Given the description of an element on the screen output the (x, y) to click on. 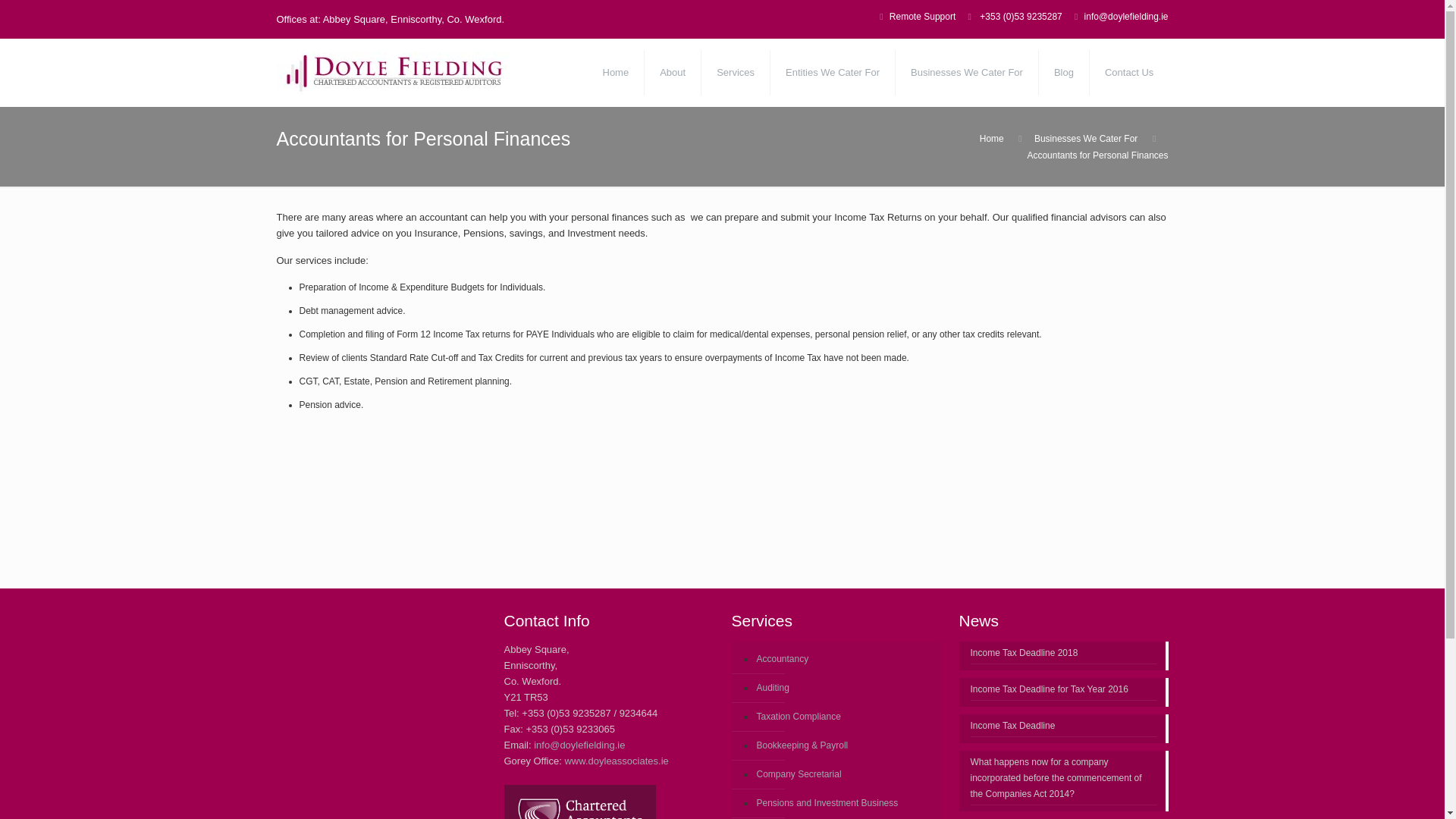
Remote Support (922, 16)
Eugene T Doyle Accountants (427, 72)
Services (735, 72)
Entities We Cater For (832, 72)
